Given the description of an element on the screen output the (x, y) to click on. 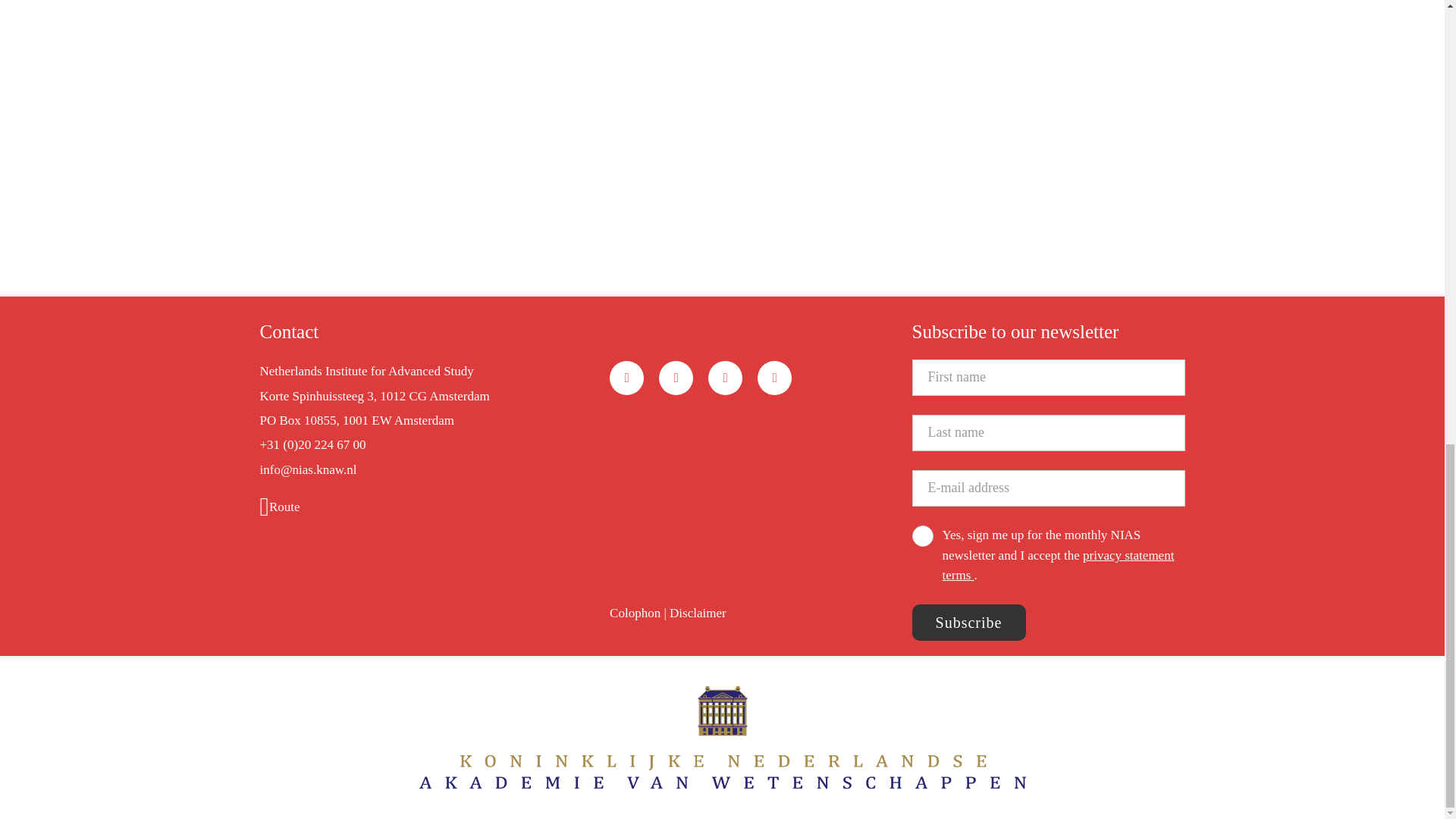
NIAS on Facebook (724, 377)
Subscribe (968, 622)
NIAS on Twitter (626, 377)
NIAS on LinkedIn (676, 377)
NIAS on Instagram (774, 377)
